Given the description of an element on the screen output the (x, y) to click on. 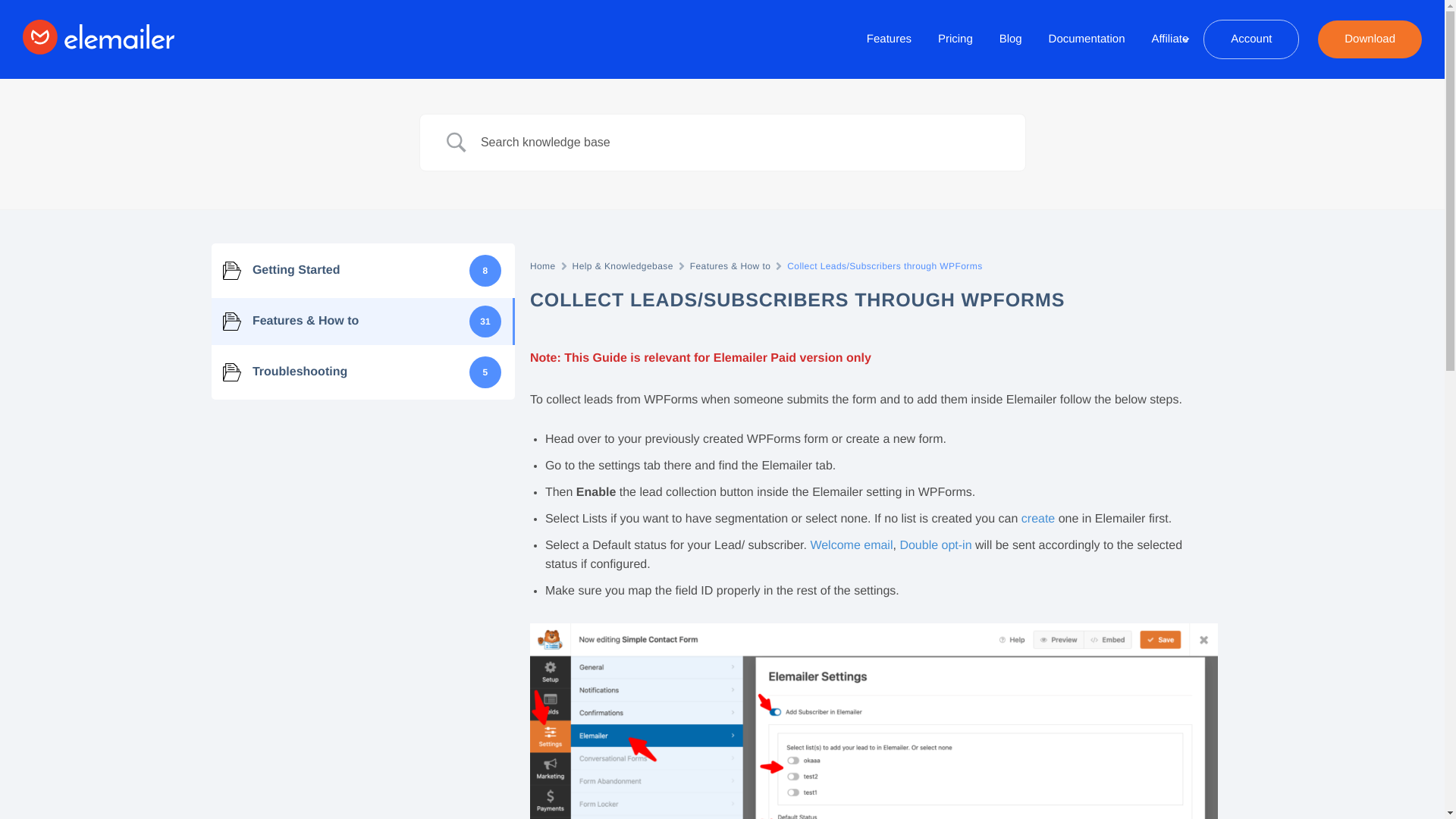
Download (1369, 39)
Blog (1010, 39)
Account (1251, 38)
Elemailer (77, 71)
Pricing (955, 39)
Features (889, 39)
Home (542, 265)
Documentation (1086, 39)
Affiliate (1169, 39)
